Given the description of an element on the screen output the (x, y) to click on. 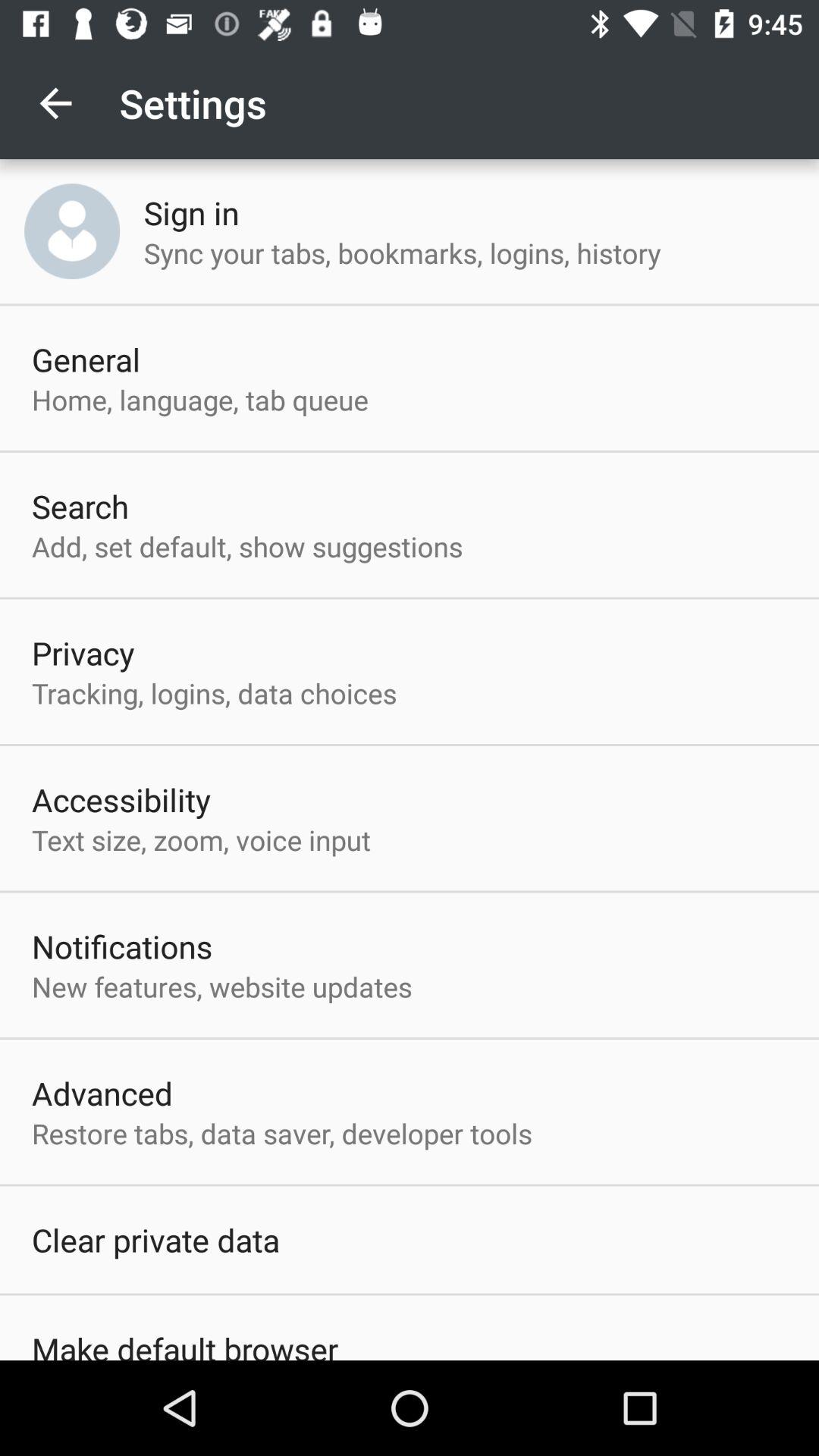
select icon below add set default icon (82, 652)
